Given the description of an element on the screen output the (x, y) to click on. 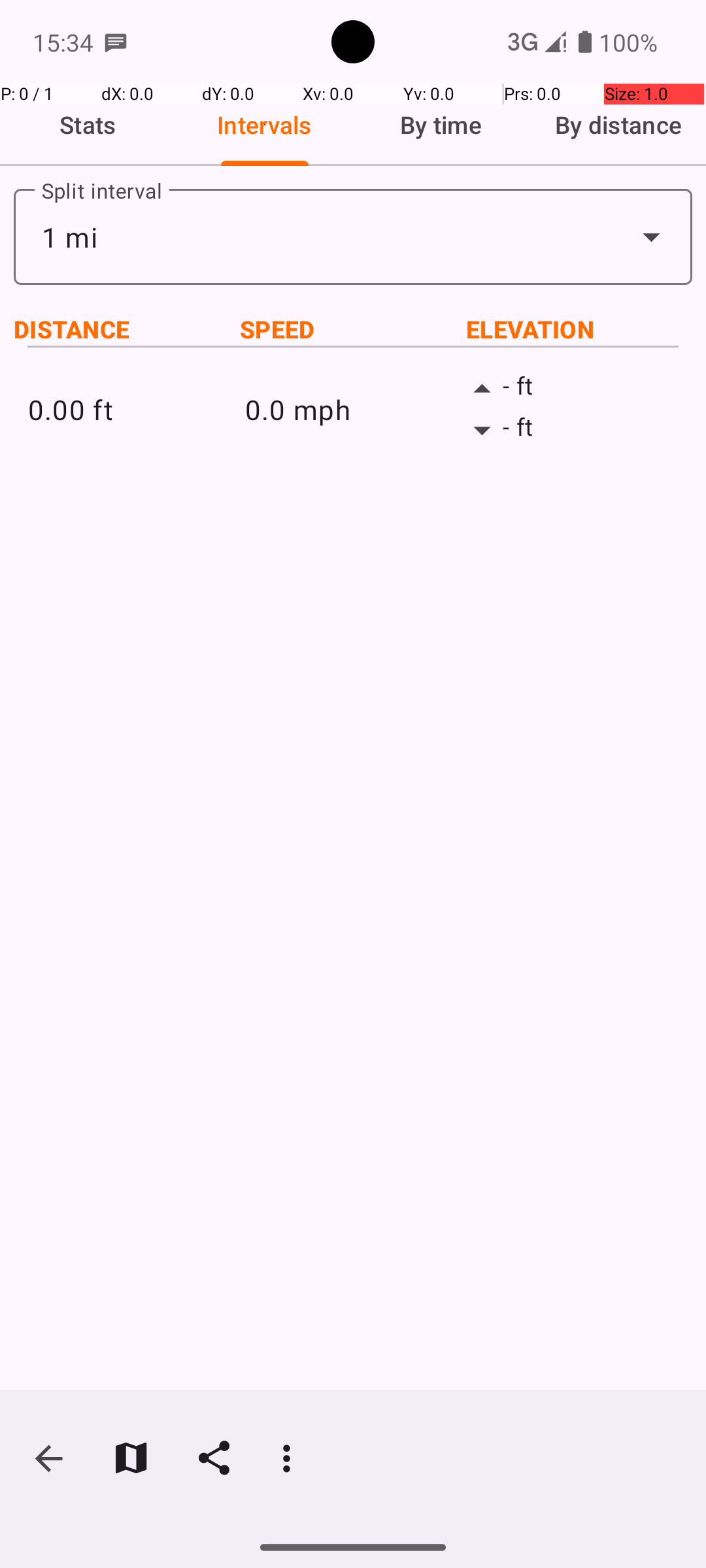
1 mi Element type: android.widget.Spinner (352, 236)
SPEED Element type: android.widget.TextView (352, 328)
ELEVATION Element type: android.widget.TextView (579, 328)
0.00 ft Element type: android.widget.TextView (135, 408)
0.0 mph Element type: android.widget.TextView (352, 408)
- ft Element type: android.widget.TextView (569, 388)
